Given the description of an element on the screen output the (x, y) to click on. 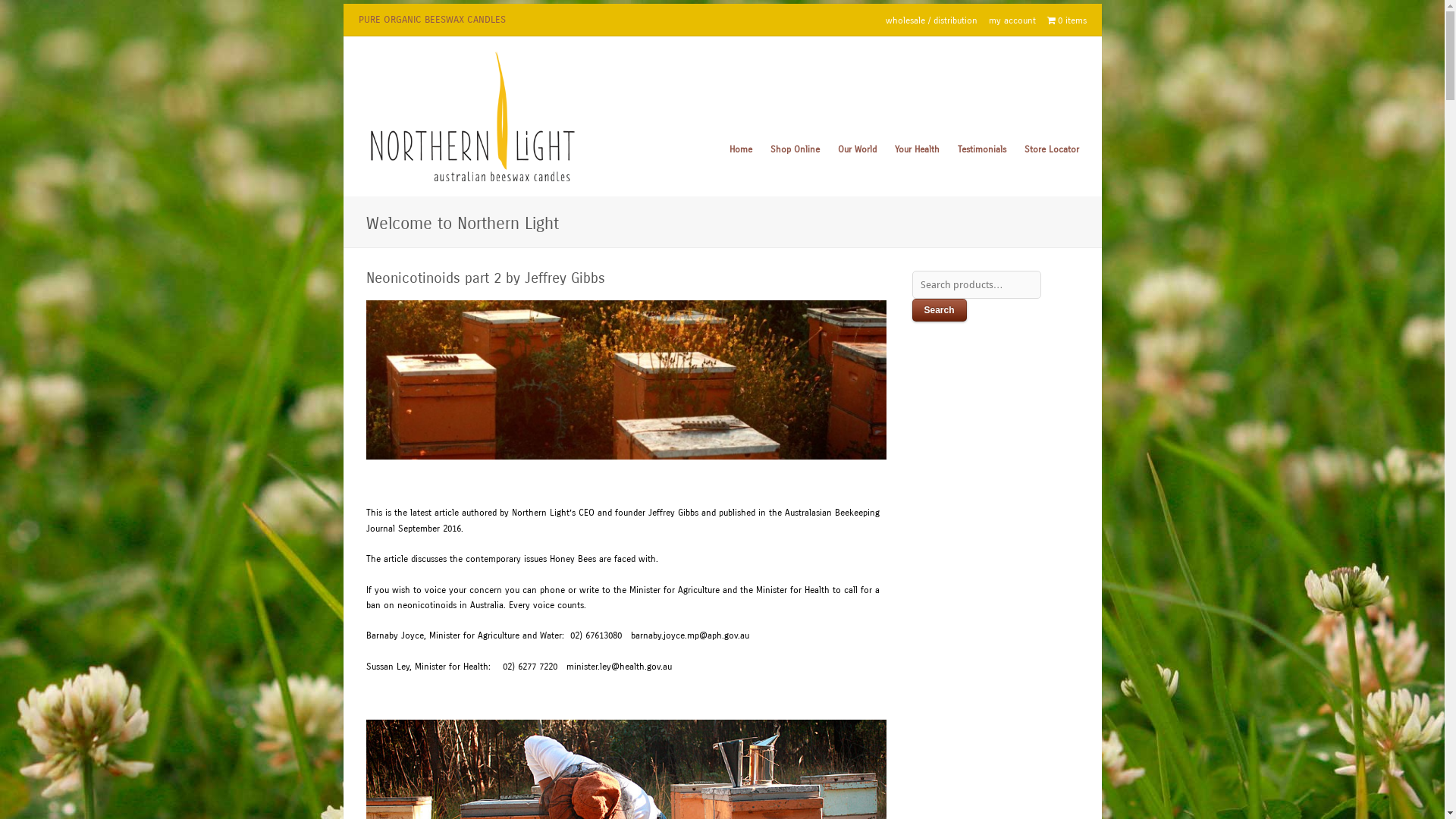
Testimonials Element type: text (981, 149)
wholesale / distribution Element type: text (931, 20)
Store Locator Element type: text (1050, 149)
Your Health Element type: text (916, 149)
0 items Element type: text (1065, 20)
Search Element type: text (938, 309)
my account Element type: text (1011, 20)
Neonicotinoids part 2 by Jeffrey Gibbs Element type: text (484, 277)
Neonicotinoids part 2 by Jeffrey Gibbs Element type: hover (625, 379)
Home Element type: text (740, 149)
